Given the description of an element on the screen output the (x, y) to click on. 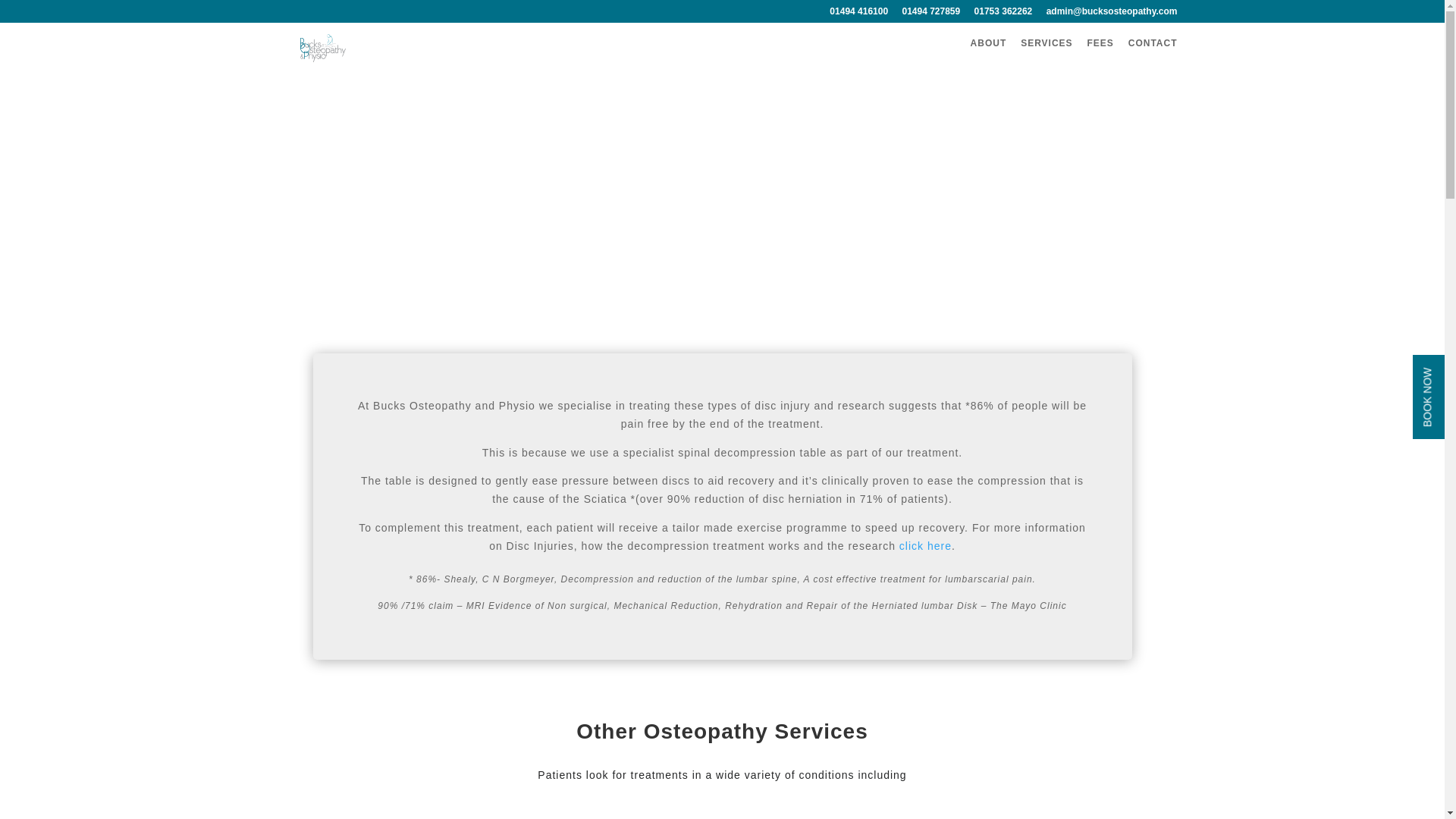
01494 727859 (930, 14)
CONTACT (1152, 55)
ABOUT (989, 55)
click here (925, 545)
01494 416100 (858, 14)
01753 362262 (1003, 14)
SERVICES (1045, 55)
